Given the description of an element on the screen output the (x, y) to click on. 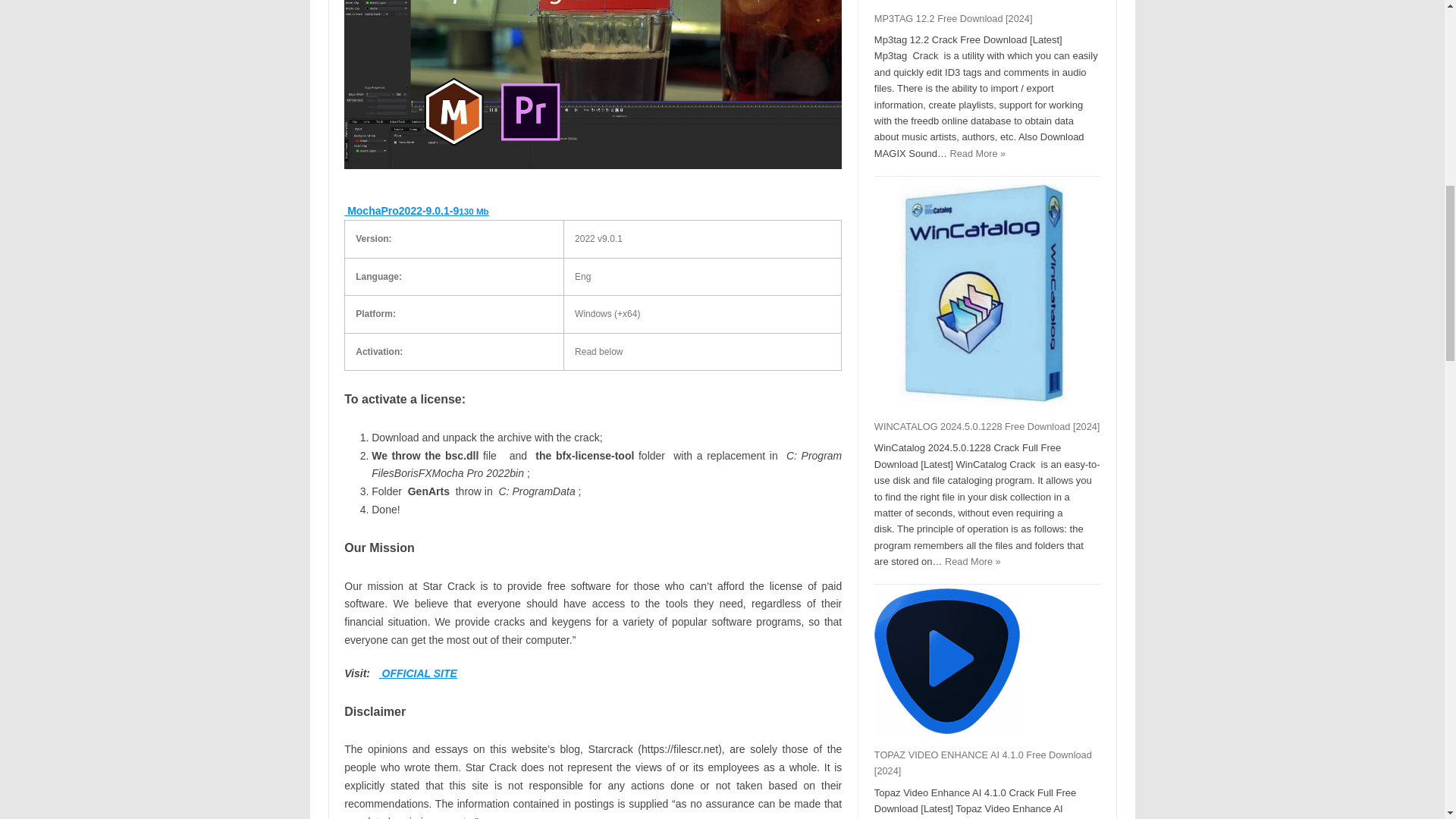
 OFFICIAL SITE (417, 673)
 MochaPro2022-9.0.1-9130 Mb (416, 210)
